Given the description of an element on the screen output the (x, y) to click on. 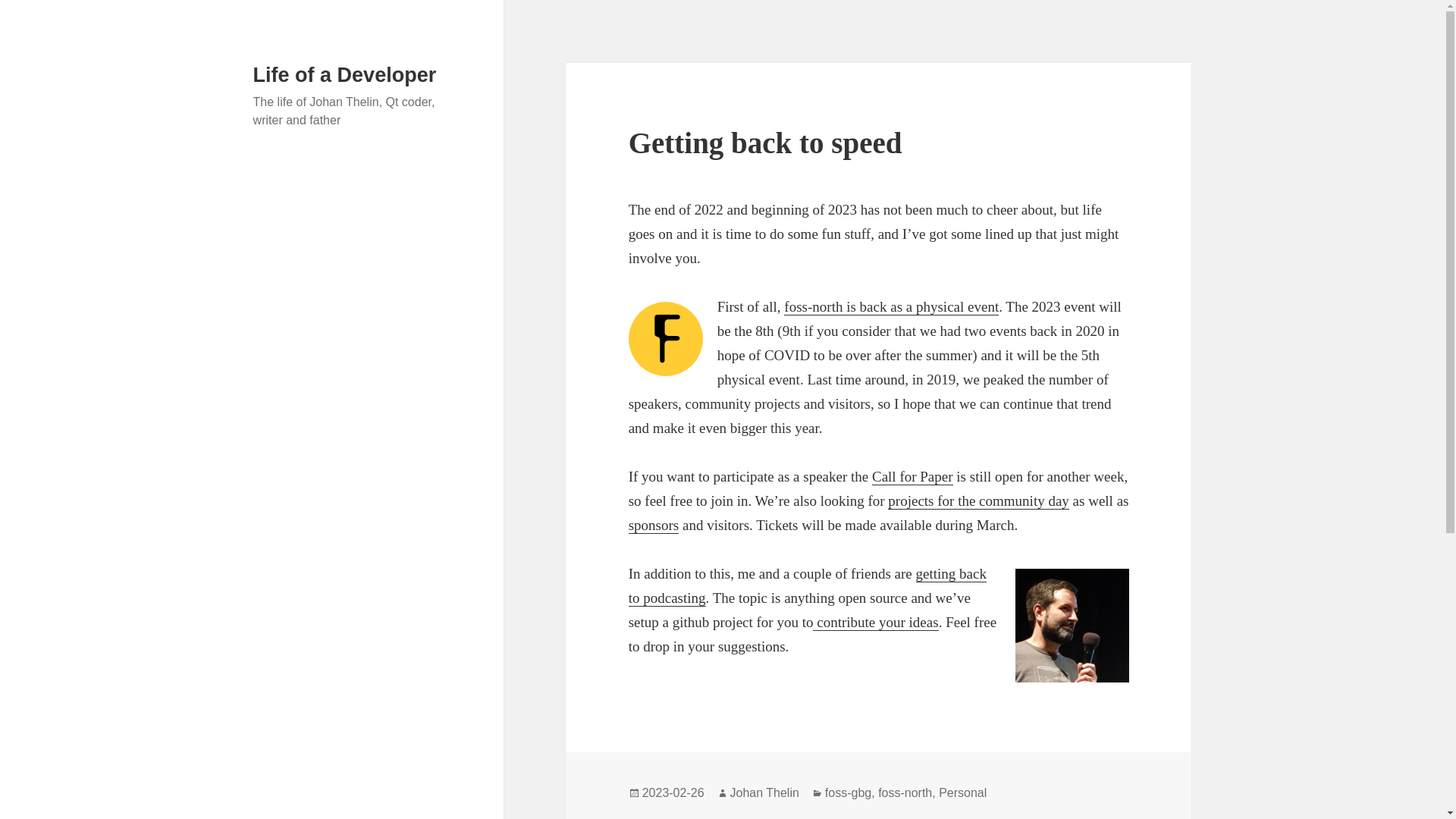
foss-north is back as a physical event (891, 306)
sponsors (653, 524)
getting back to podcasting (807, 585)
Call for Paper (912, 476)
Personal (963, 793)
projects for the community day (978, 501)
foss-gbg (847, 793)
2023-02-26 (673, 793)
Life of a Developer (344, 74)
Johan Thelin (764, 793)
foss-north (904, 793)
contribute your ideas (874, 622)
